Given the description of an element on the screen output the (x, y) to click on. 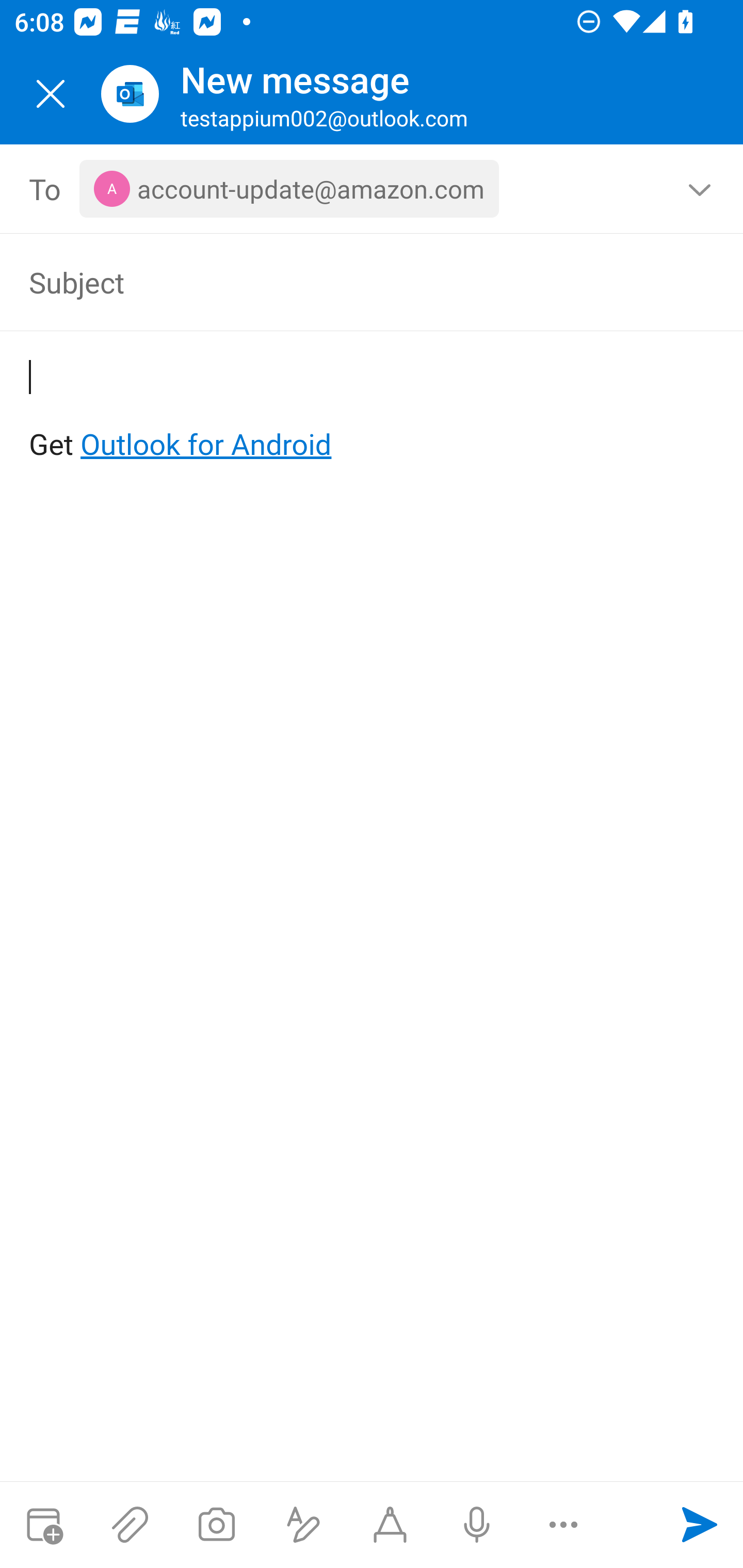
Close (50, 93)
Subject (342, 281)


Get Outlook for Android (372, 411)
Attach meeting (43, 1524)
Attach files (129, 1524)
Take a photo (216, 1524)
Show formatting options (303, 1524)
Start Ink compose (389, 1524)
Dictation (476, 1524)
More options (563, 1524)
Send (699, 1524)
